Given the description of an element on the screen output the (x, y) to click on. 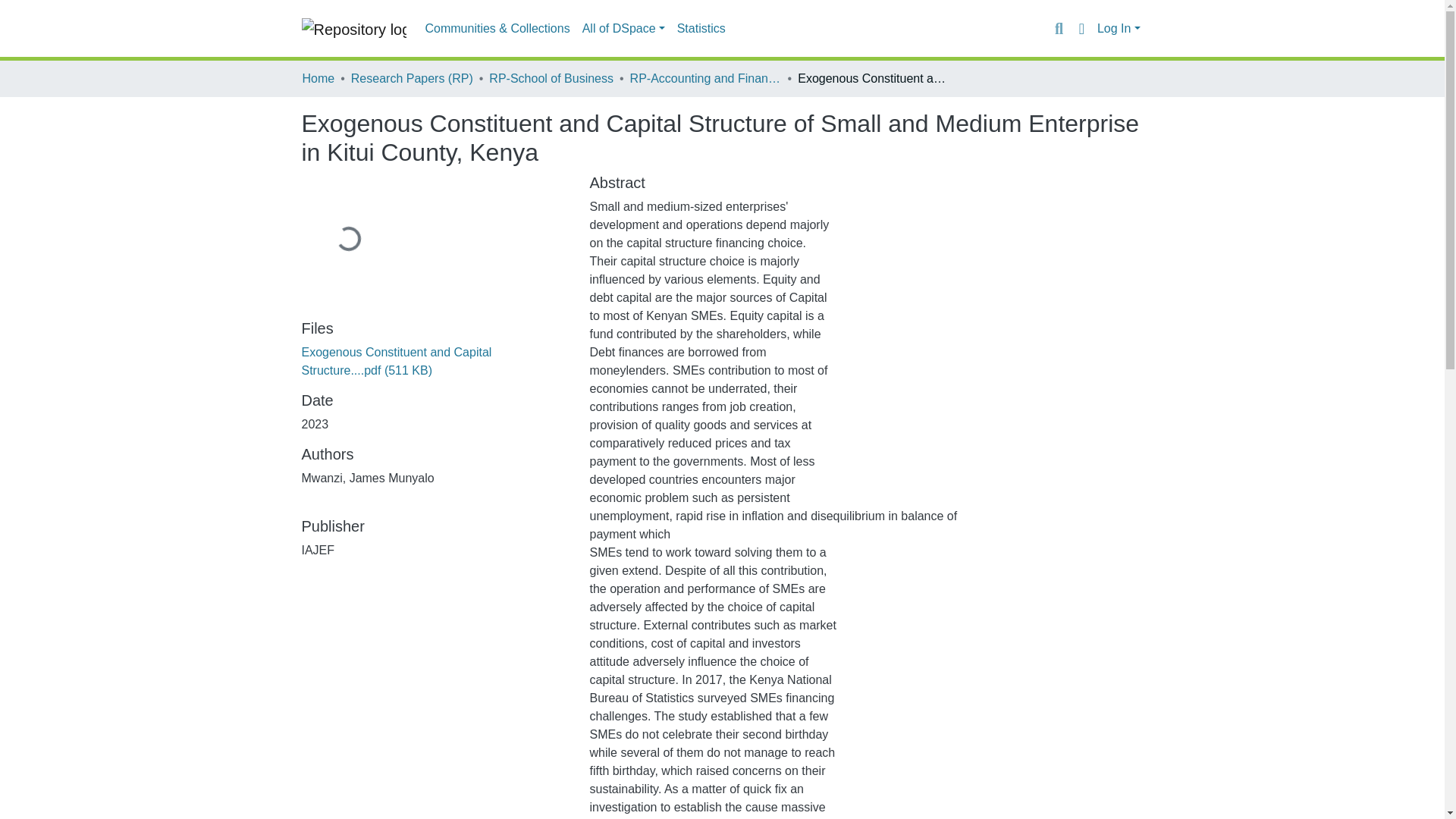
Log In (1118, 28)
Language switch (1081, 28)
All of DSpace (623, 28)
Statistics (701, 28)
RP-School of Business (550, 78)
Statistics (701, 28)
Search (1058, 28)
Home (317, 78)
RP-Accounting and Finance Department (705, 78)
